Given the description of an element on the screen output the (x, y) to click on. 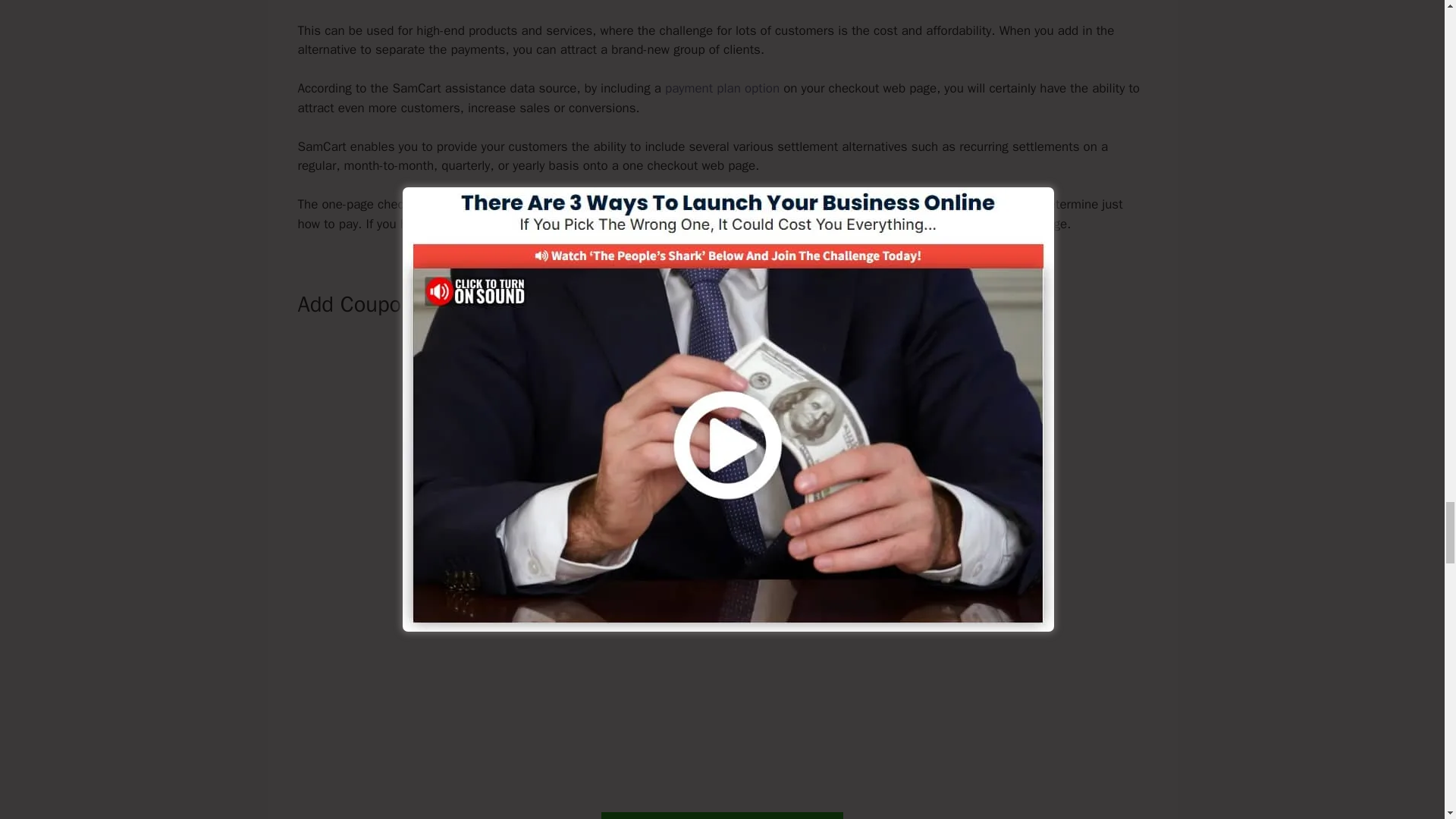
Learn More About This Here (722, 815)
numerous payments (523, 204)
payment plan option (721, 88)
